Given the description of an element on the screen output the (x, y) to click on. 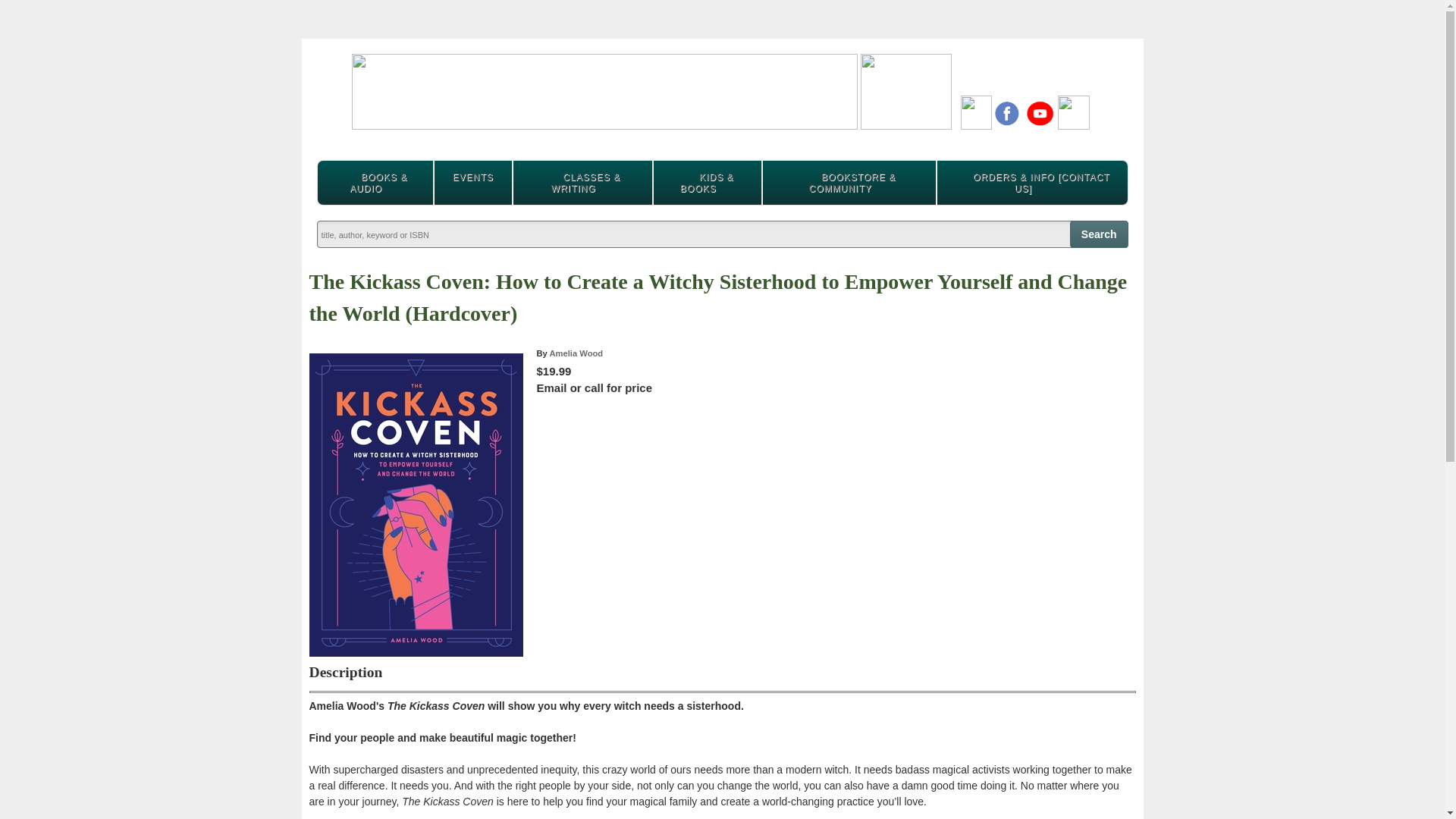
EVENTS (472, 176)
Search (1099, 234)
